Given the description of an element on the screen output the (x, y) to click on. 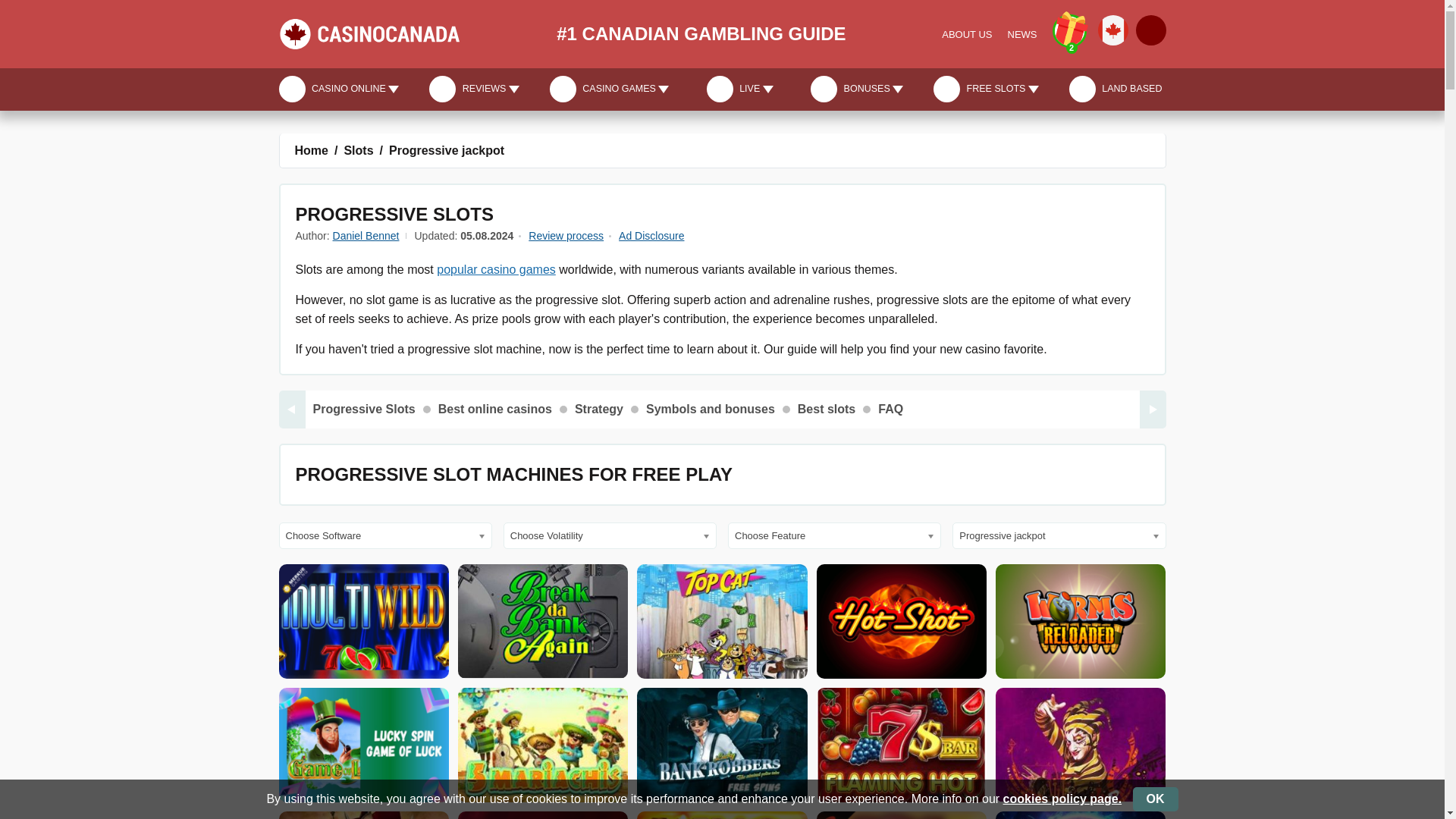
REVIEWS (473, 88)
CASINO ONLINE (341, 88)
NEWS (1021, 33)
ABOUT US (966, 33)
